Given the description of an element on the screen output the (x, y) to click on. 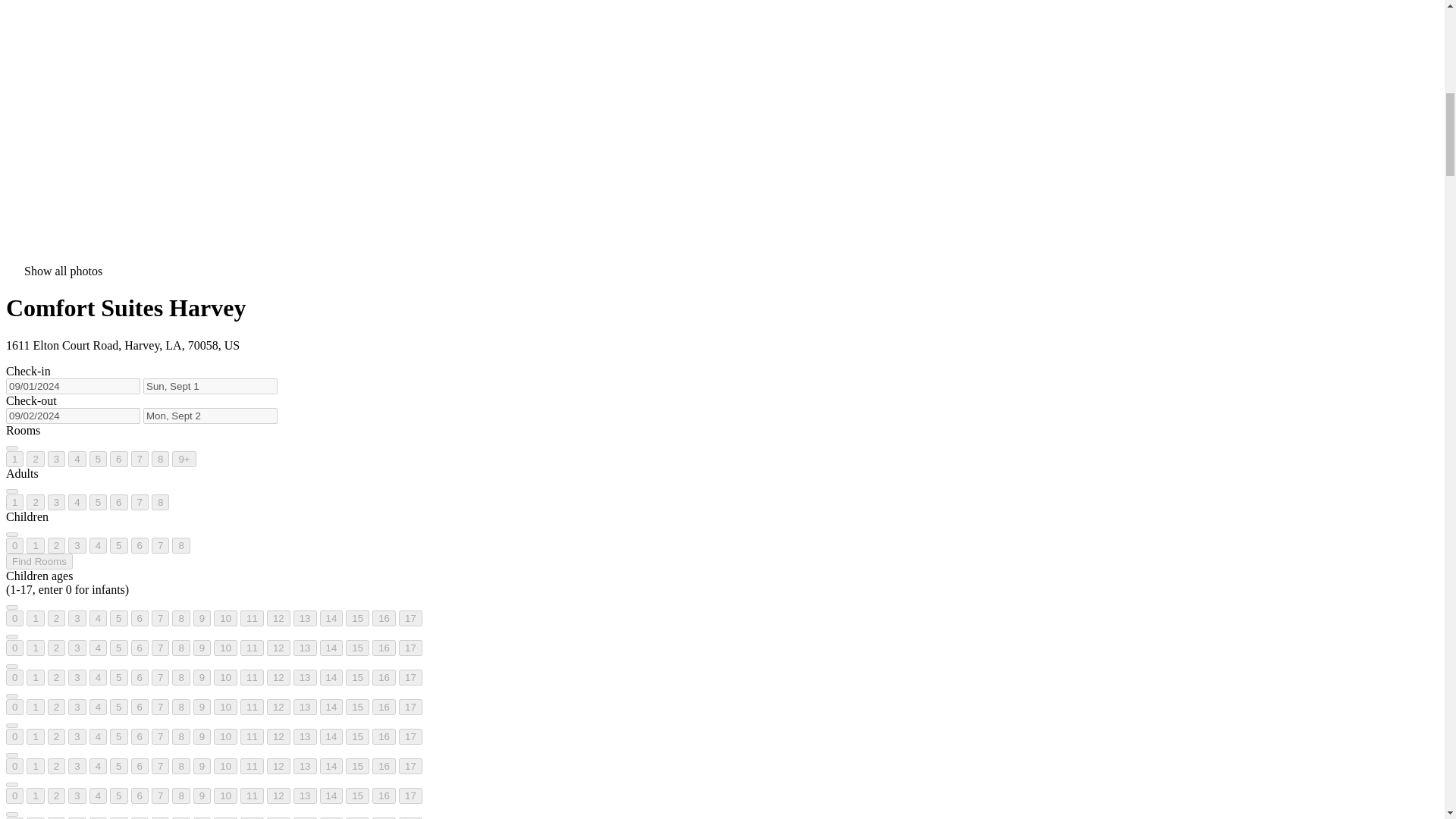
5 (97, 458)
2 (34, 502)
5 (119, 545)
7 (139, 502)
6 (119, 458)
5 (97, 502)
1 (14, 502)
1 (34, 545)
3 (56, 458)
3 (76, 545)
